Given the description of an element on the screen output the (x, y) to click on. 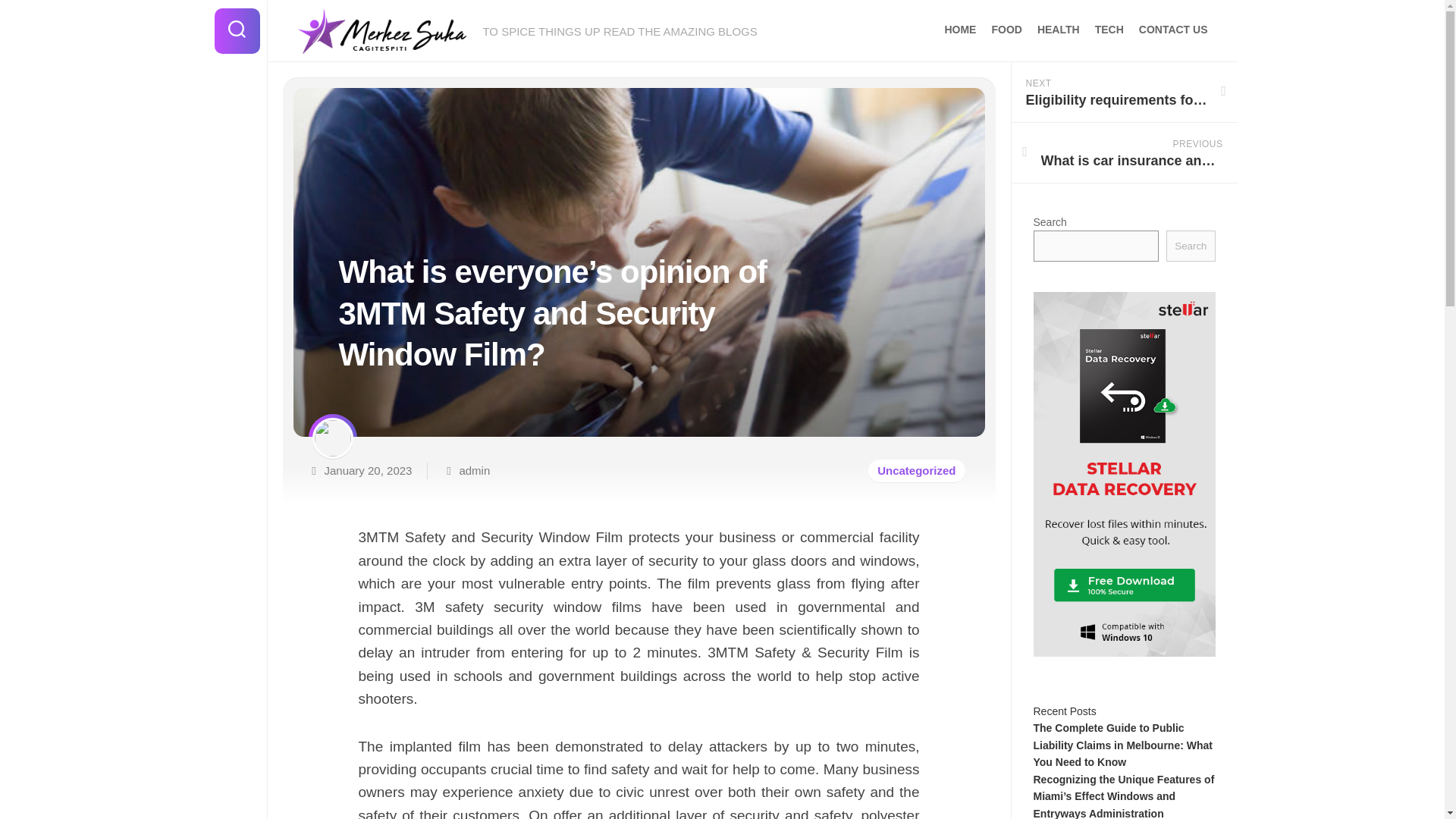
CONTACT US (1173, 29)
admin (1123, 92)
TECH (473, 470)
FOOD (1109, 29)
Search (1006, 29)
Posts by admin (1190, 245)
HOME (473, 470)
HEALTH (1123, 152)
Uncategorized (959, 29)
